Given the description of an element on the screen output the (x, y) to click on. 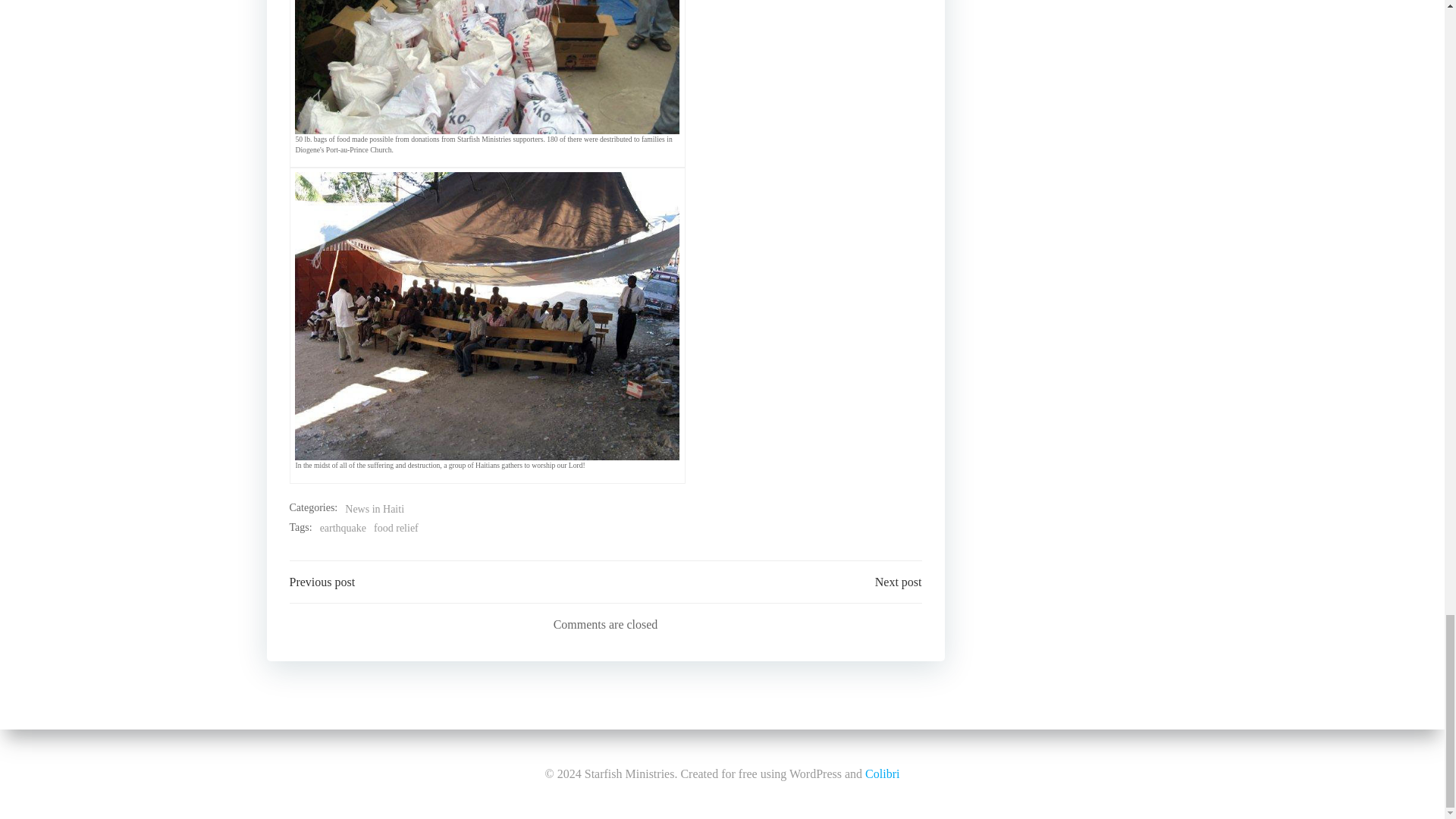
relief2 (486, 67)
Next post (898, 582)
News in Haiti (374, 509)
worship (486, 315)
Previous post (322, 582)
food relief Tag (396, 528)
earthquake Tag (343, 528)
earthquake (343, 528)
food relief (396, 528)
